Given the description of an element on the screen output the (x, y) to click on. 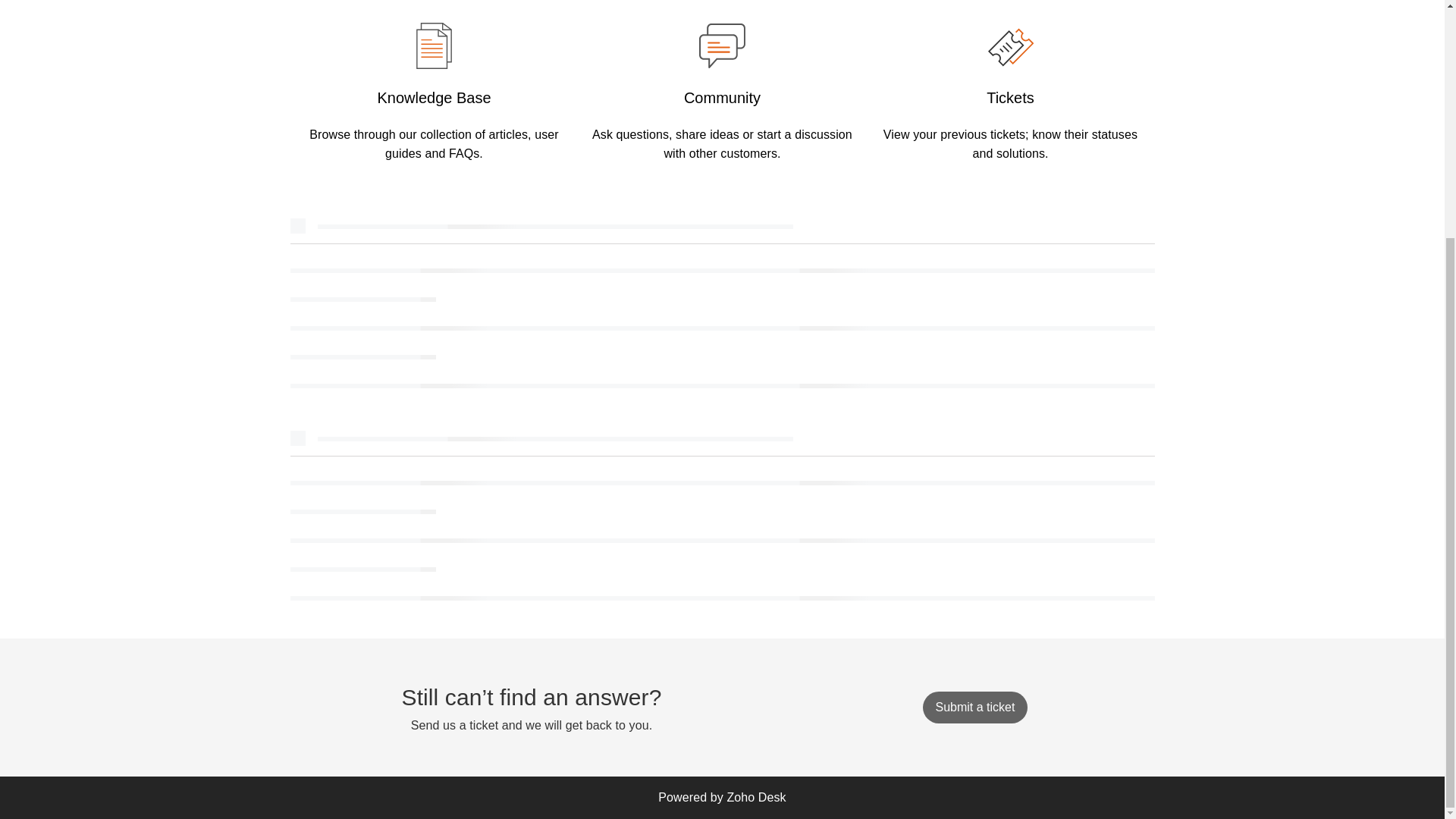
Tickets (1010, 97)
Submit a ticket (974, 707)
Community (722, 97)
Submit a ticket (974, 707)
Knowledge Base (433, 97)
Zoho Desk (756, 797)
